Given the description of an element on the screen output the (x, y) to click on. 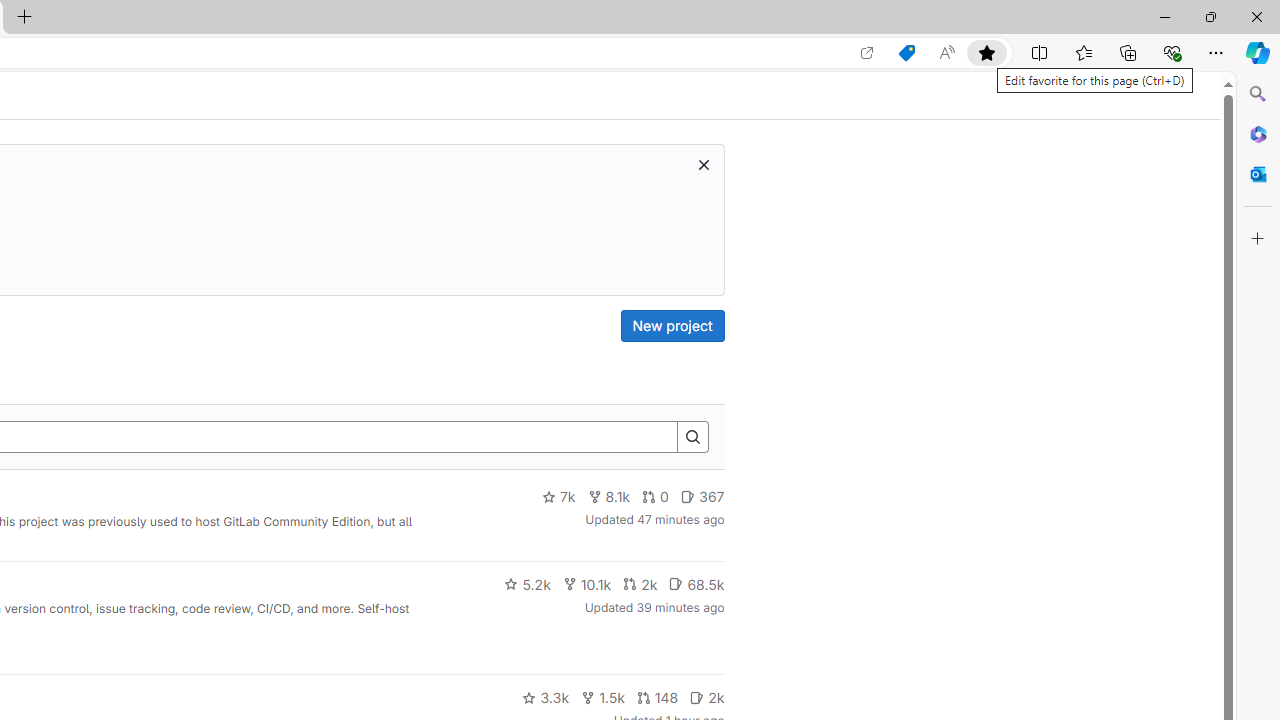
8.1k (609, 497)
2k (706, 697)
Open in app (867, 53)
Class: s14 gl-mr-2 (697, 696)
New project (671, 326)
148 (657, 697)
Class: s16 gl-icon gl-button-icon  (703, 164)
Dismiss trial promotion (703, 164)
